Given the description of an element on the screen output the (x, y) to click on. 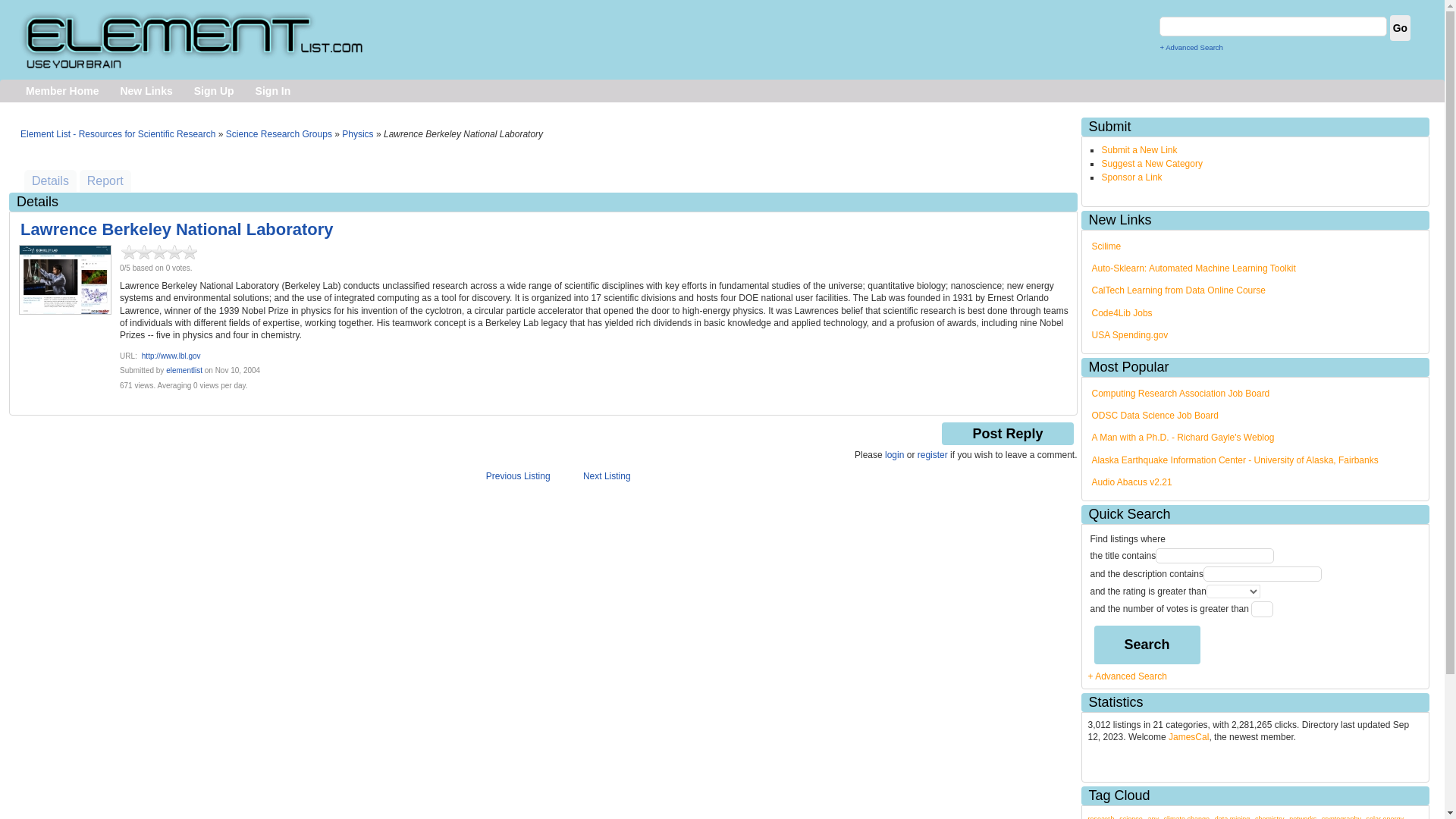
Computing Research Association Job Board (1180, 393)
Sign Up (213, 91)
Sign In (273, 91)
register (932, 454)
Details (50, 180)
Lawrence Berkeley National Laboratory (176, 229)
Previous Listing (518, 475)
Physics (357, 133)
5 (189, 252)
Element List - Resources for Scientific Research (117, 133)
